Given the description of an element on the screen output the (x, y) to click on. 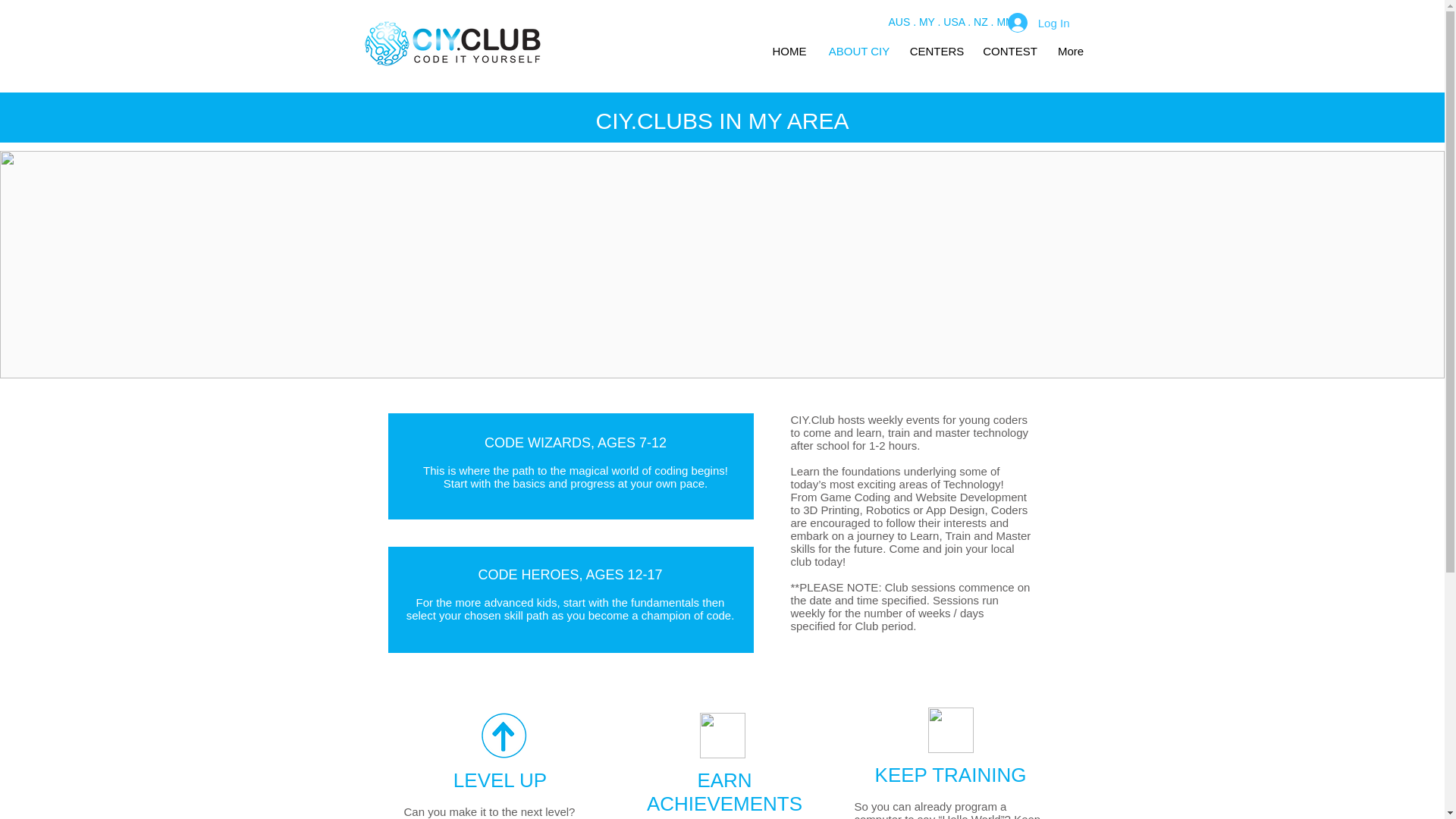
CENTERS (937, 51)
CONTEST (1010, 51)
Log In (1038, 22)
ABOUT CIY (857, 51)
HOME (789, 51)
